Given the description of an element on the screen output the (x, y) to click on. 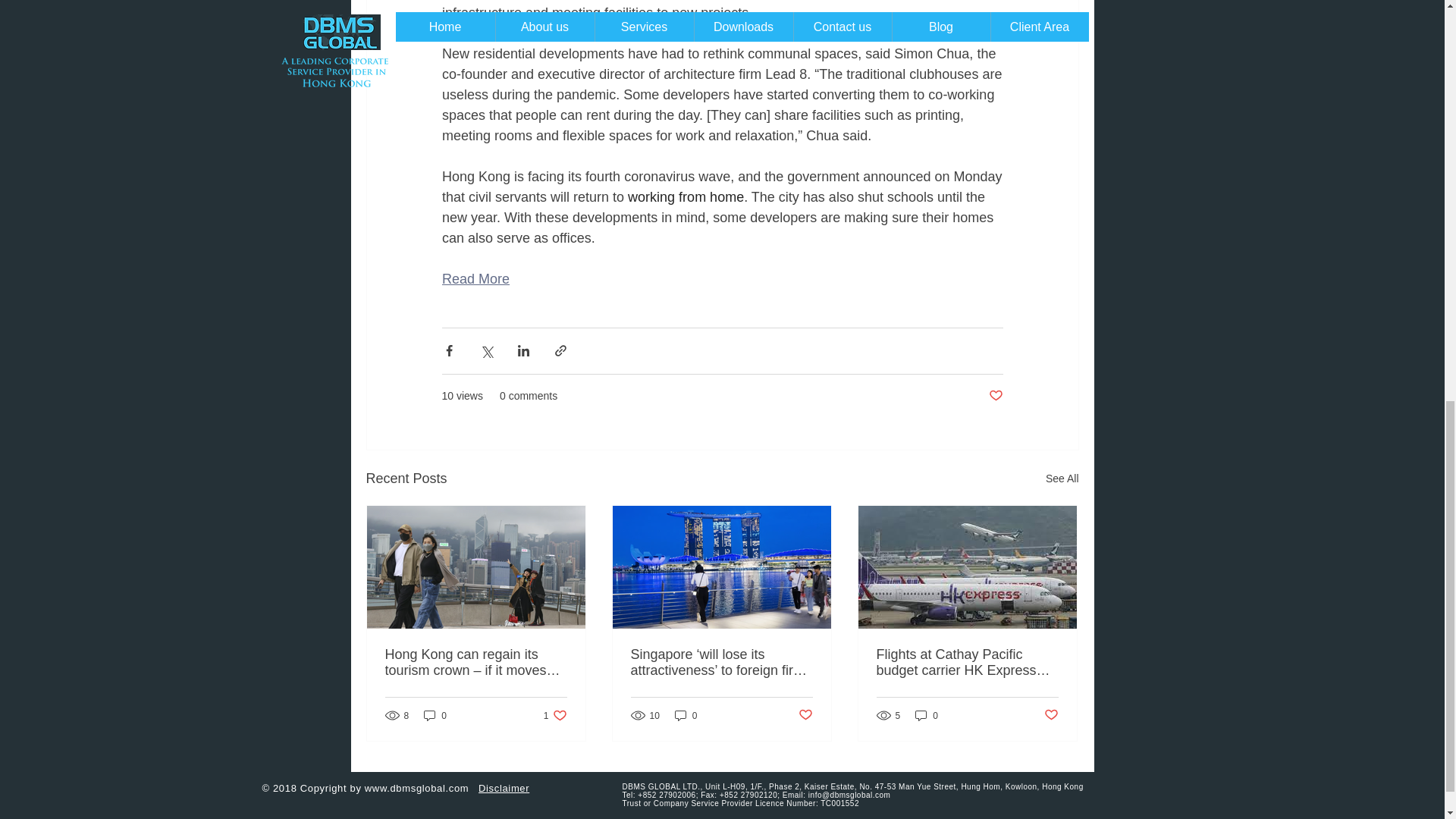
Read More (474, 278)
Post not marked as liked (995, 396)
See All (1061, 478)
www.dbmsglobal.com (416, 787)
0 (555, 715)
Disclaimer (685, 715)
Post not marked as liked (504, 787)
working from home (804, 715)
0 (685, 196)
Post not marked as liked (435, 715)
0 (1050, 715)
